Given the description of an element on the screen output the (x, y) to click on. 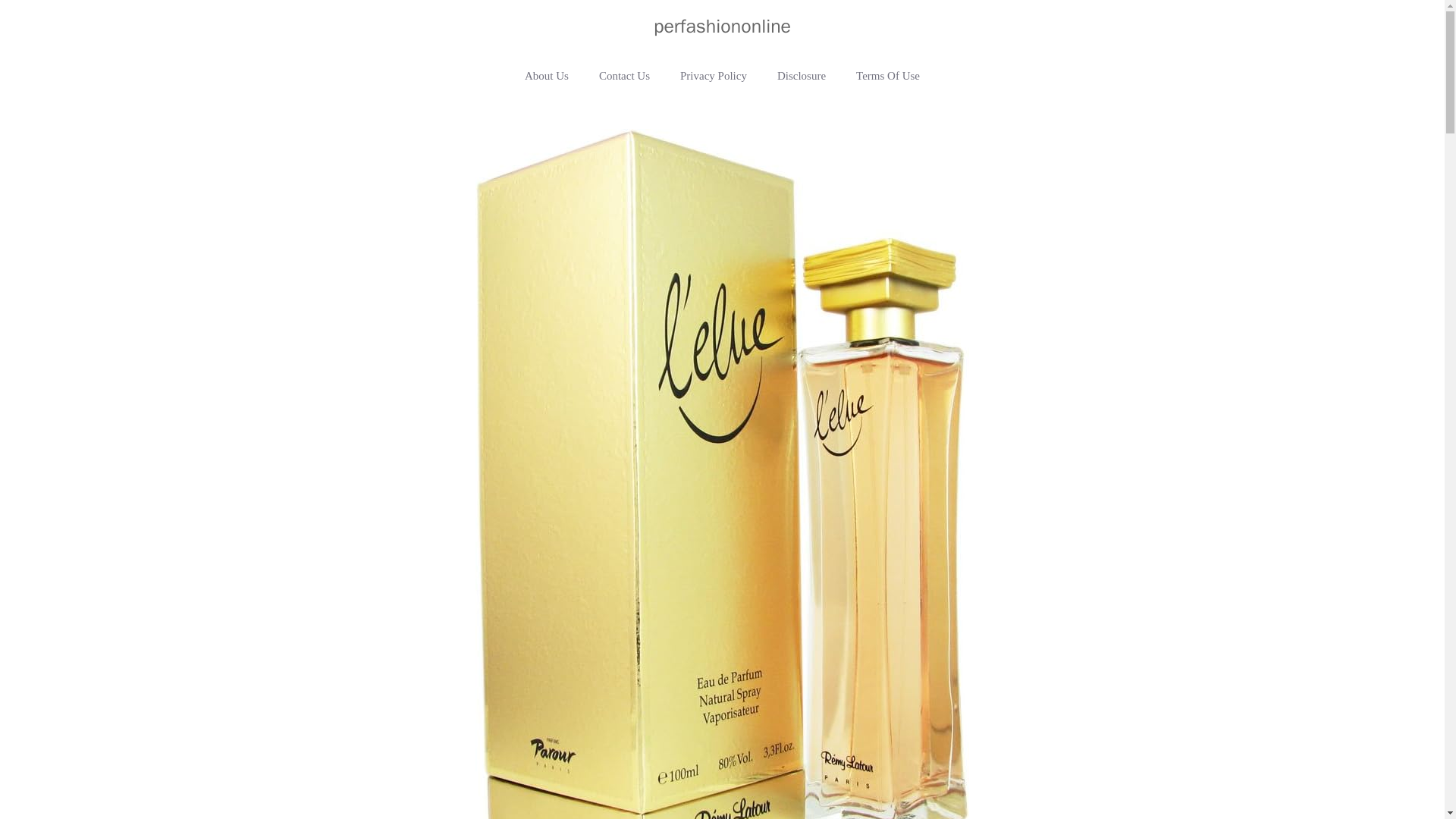
perfashiononline (721, 25)
About Us (546, 75)
Privacy Policy (713, 75)
Terms Of Use (887, 75)
Disclosure (801, 75)
Contact Us (624, 75)
